Given the description of an element on the screen output the (x, y) to click on. 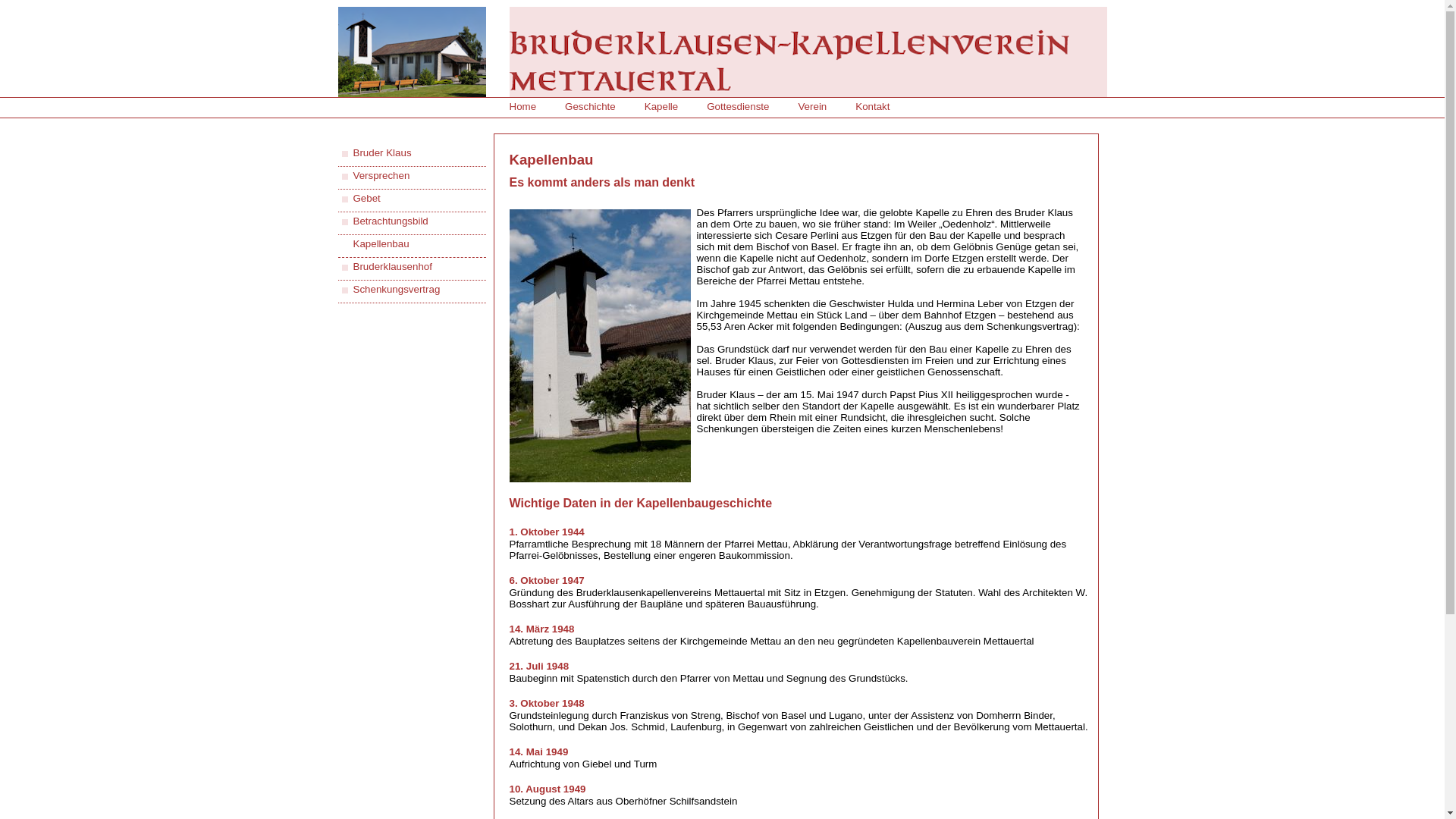
Verein Element type: text (811, 106)
Kontakt Element type: text (872, 106)
Gottesdienste Element type: text (737, 106)
Home Element type: text (522, 106)
Gebet Element type: text (366, 197)
Geschichte Element type: text (589, 106)
Bruder Klaus Element type: text (382, 152)
Betrachtungsbild Element type: text (390, 220)
Kapellenbau Element type: text (381, 243)
Versprechen Element type: text (381, 175)
Kapelle Element type: text (660, 106)
Schenkungsvertrag Element type: text (396, 288)
Bruderklausenhof Element type: text (392, 266)
